Given the description of an element on the screen output the (x, y) to click on. 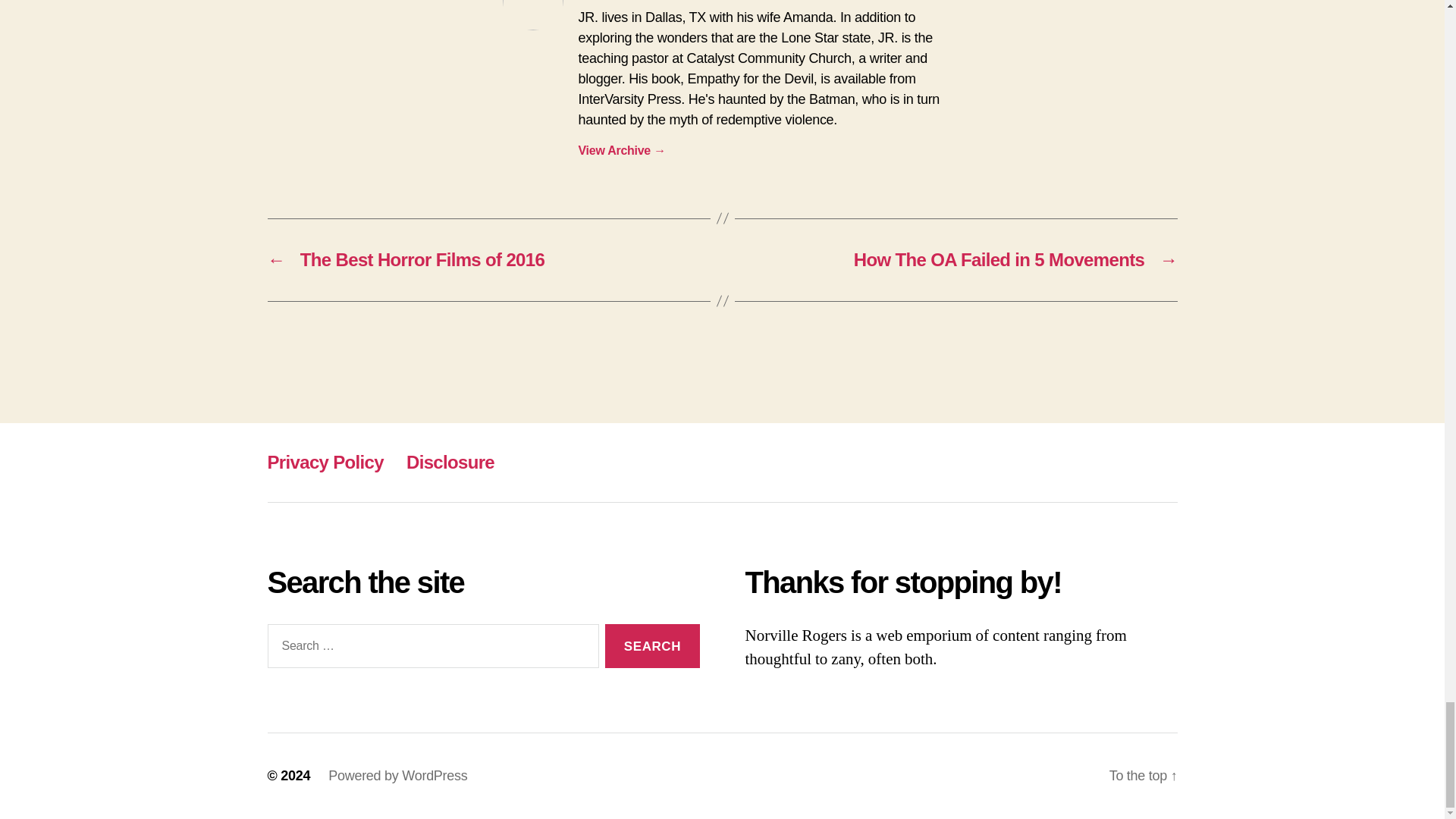
Search (651, 646)
Search (651, 646)
